Given the description of an element on the screen output the (x, y) to click on. 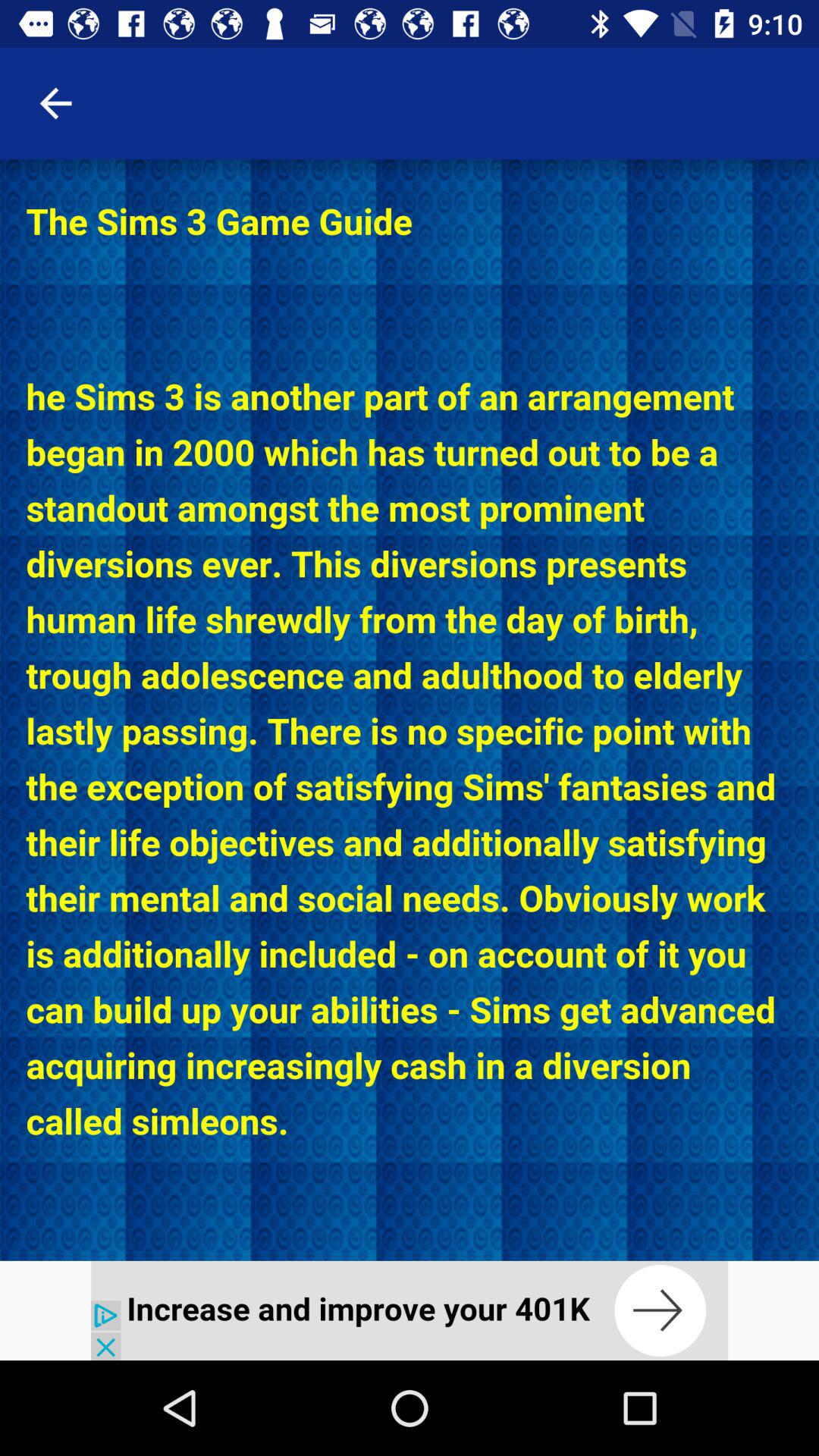
advertisement (409, 1310)
